Given the description of an element on the screen output the (x, y) to click on. 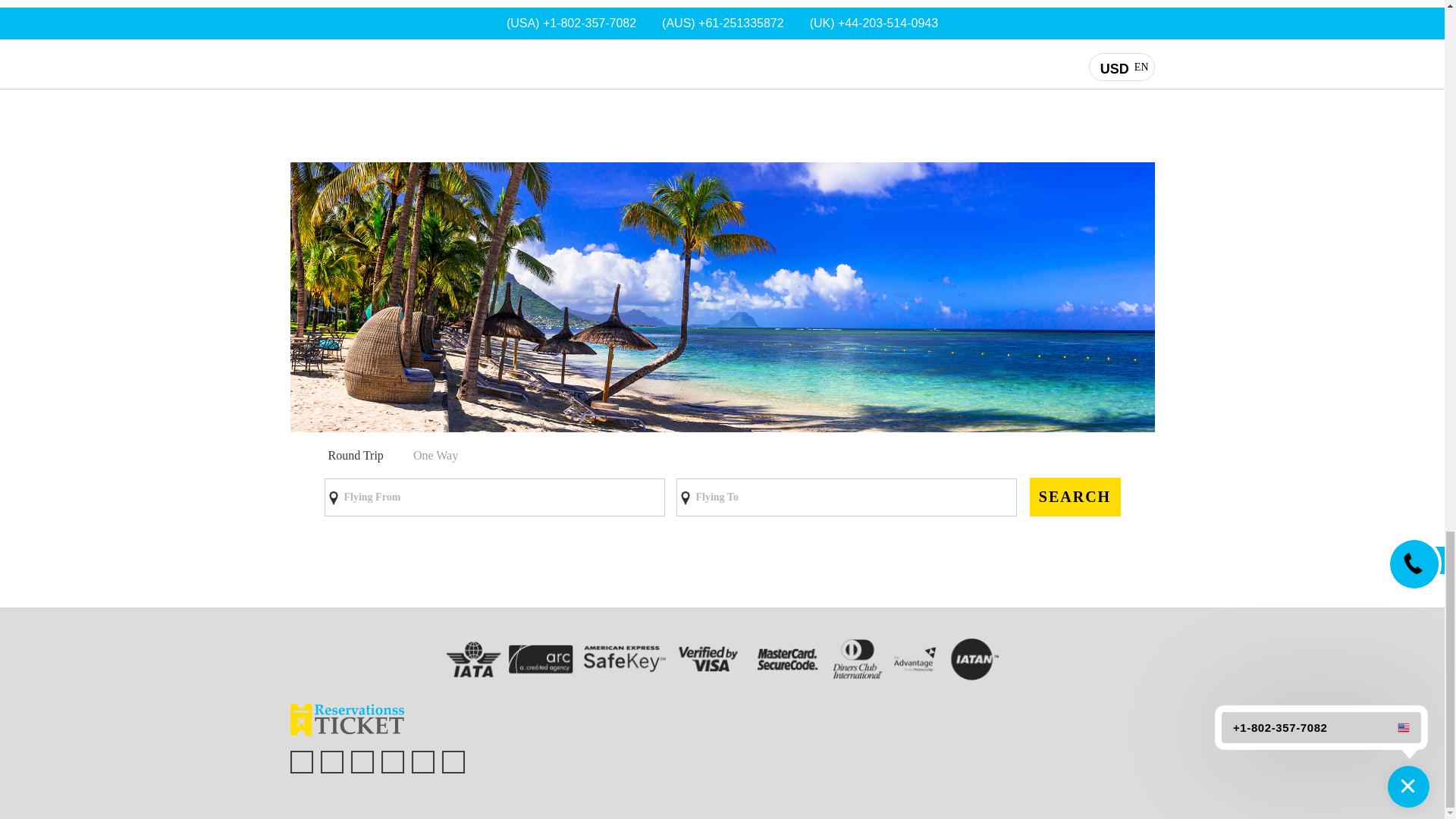
SEARCH (1075, 496)
